Given the description of an element on the screen output the (x, y) to click on. 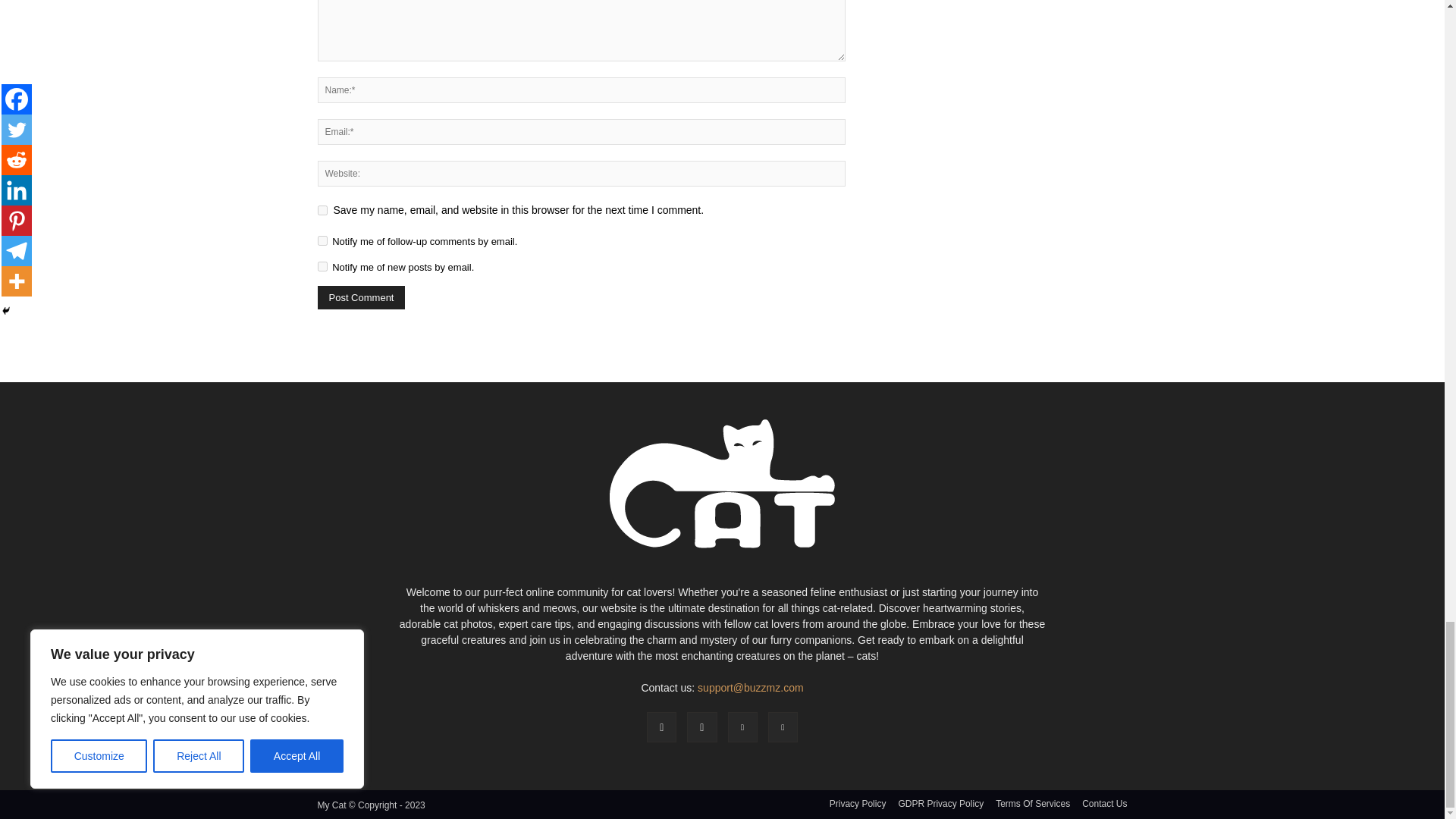
yes (321, 210)
subscribe (321, 266)
subscribe (321, 240)
Post Comment (360, 297)
